Given the description of an element on the screen output the (x, y) to click on. 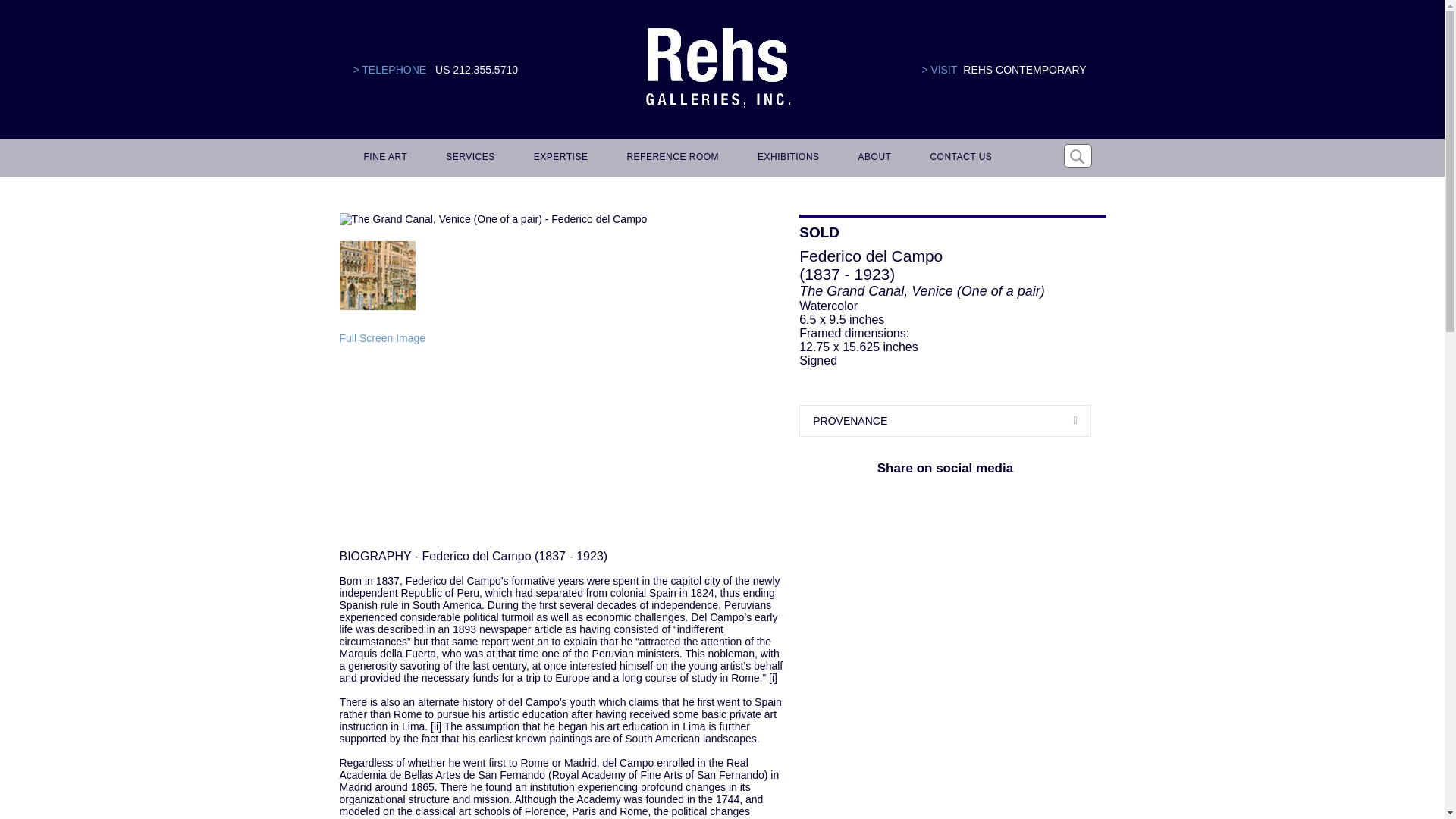
EXHIBITIONS (785, 157)
ABOUT (872, 157)
Logo (717, 67)
Full Screen Image (382, 337)
REHS CONTEMPORARY (1024, 69)
REFERENCE ROOM (670, 157)
FINE ART (383, 157)
SERVICES (467, 157)
EXPERTISE (558, 157)
CONTACT US (957, 157)
